Given the description of an element on the screen output the (x, y) to click on. 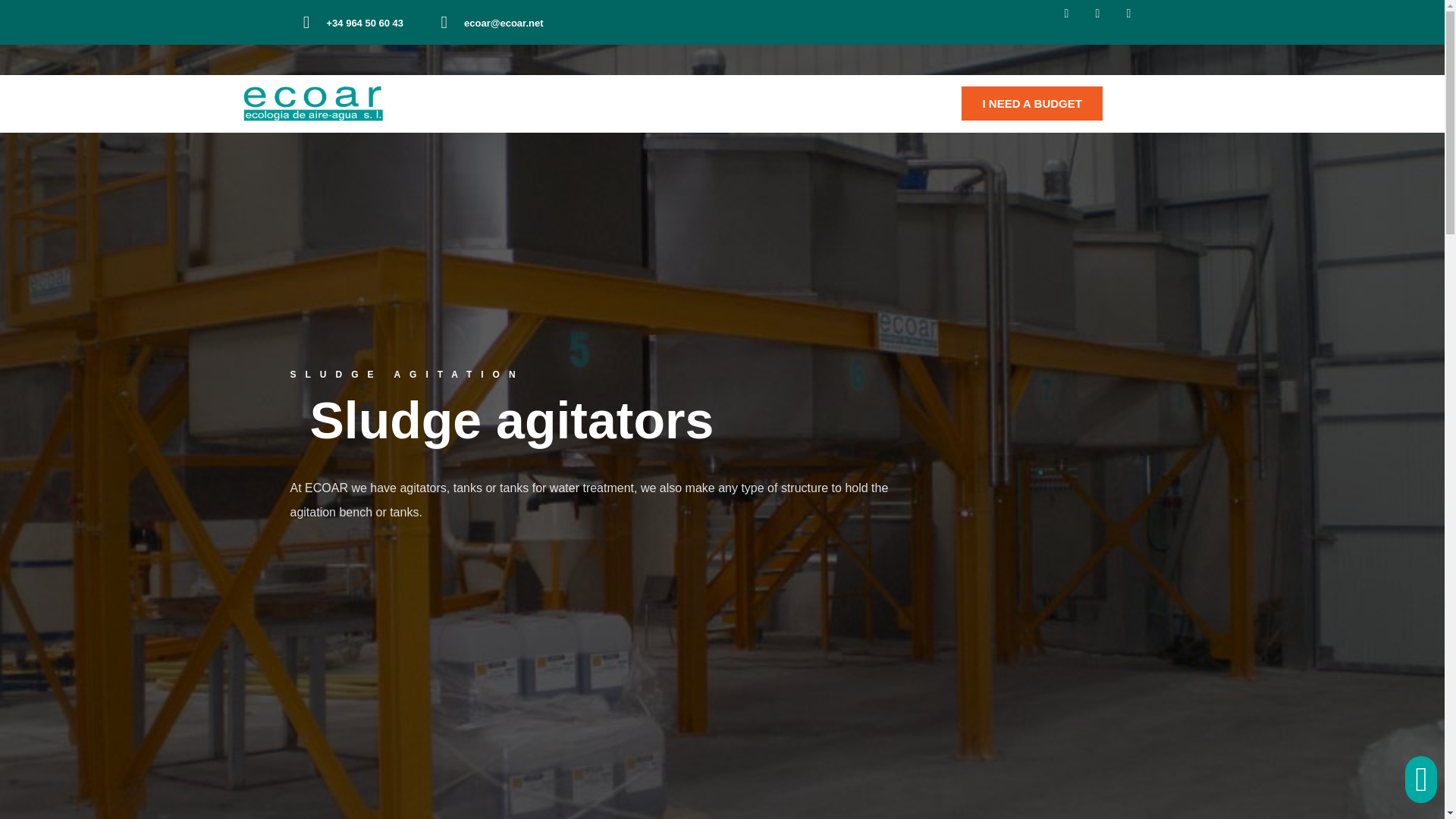
JOIN US (743, 103)
PRODUCTS (589, 103)
CONTACT (823, 103)
NEWS (674, 103)
